Given the description of an element on the screen output the (x, y) to click on. 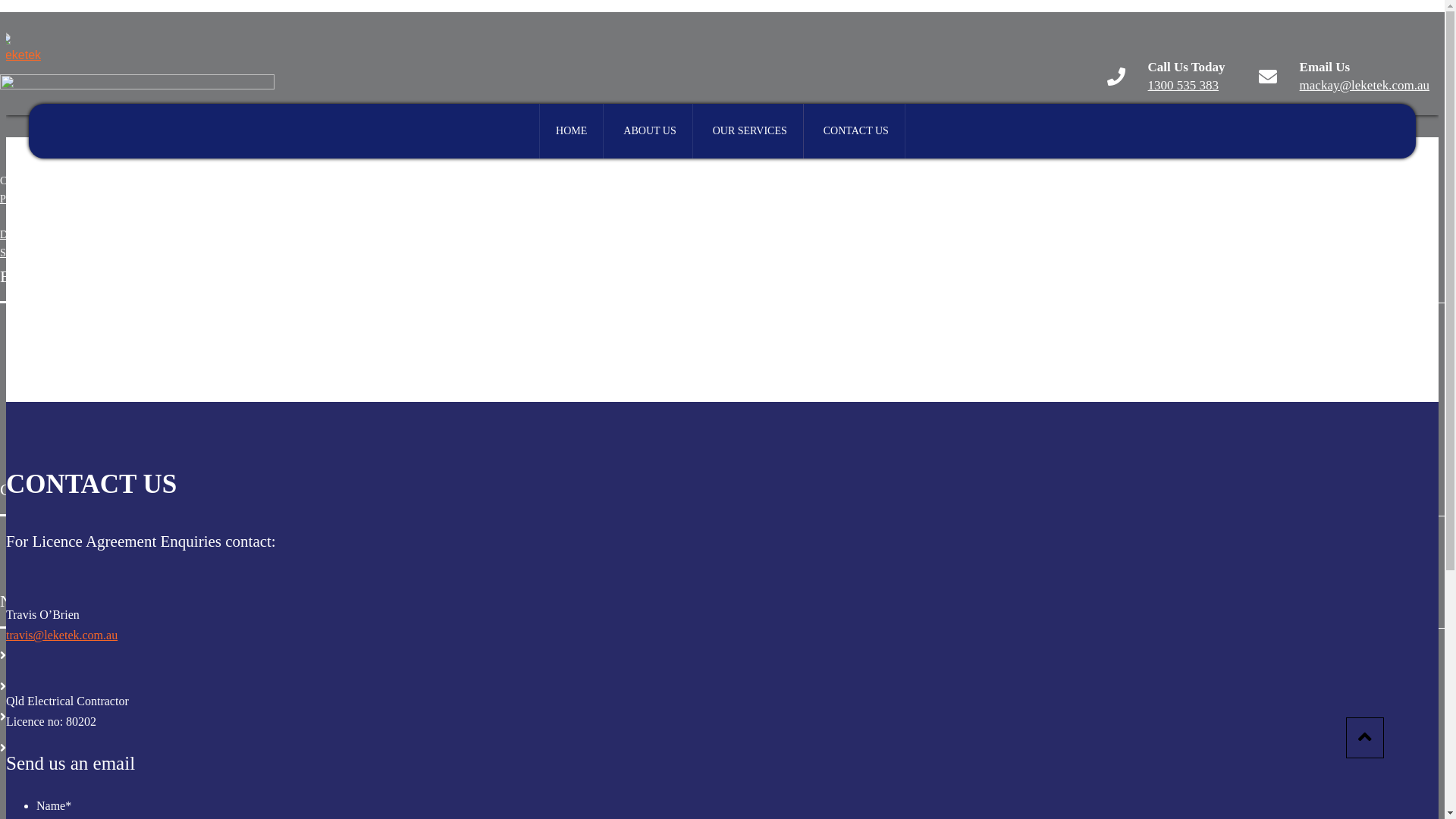
Privacy Policy Element type: text (31, 198)
CONTACT US Element type: text (855, 130)
Designed By
Strategic Media Partners Element type: text (52, 243)
Terms of Use Element type: text (97, 198)
mackay@leketek.com.au Element type: text (1364, 85)
1300 535 383 Element type: text (1183, 85)
mackay@leketek.com.au Element type: text (86, 570)
OUR SERVICES Element type: text (749, 130)
About Us Element type: text (25, 684)
travis@leketek.com.au Element type: text (61, 634)
ABOUT US Element type: text (649, 130)
HOME Element type: text (570, 130)
Home Element type: text (18, 653)
1300 535 383 Element type: text (62, 540)
Our Services Element type: text (32, 715)
Contact Us Element type: text (29, 746)
Scroll to top Element type: hover (1364, 737)
